Given the description of an element on the screen output the (x, y) to click on. 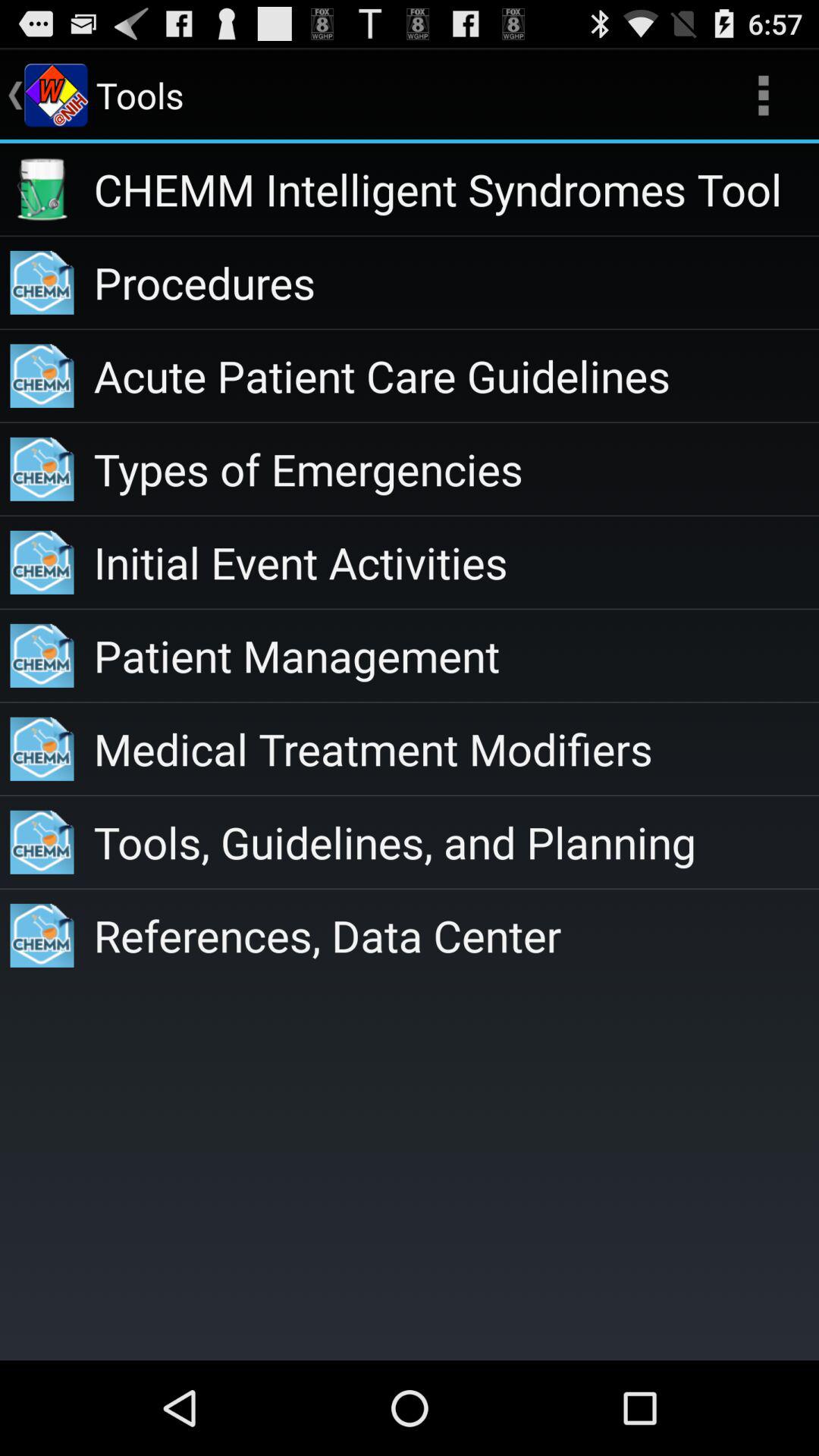
turn on app above types of emergencies icon (456, 375)
